Given the description of an element on the screen output the (x, y) to click on. 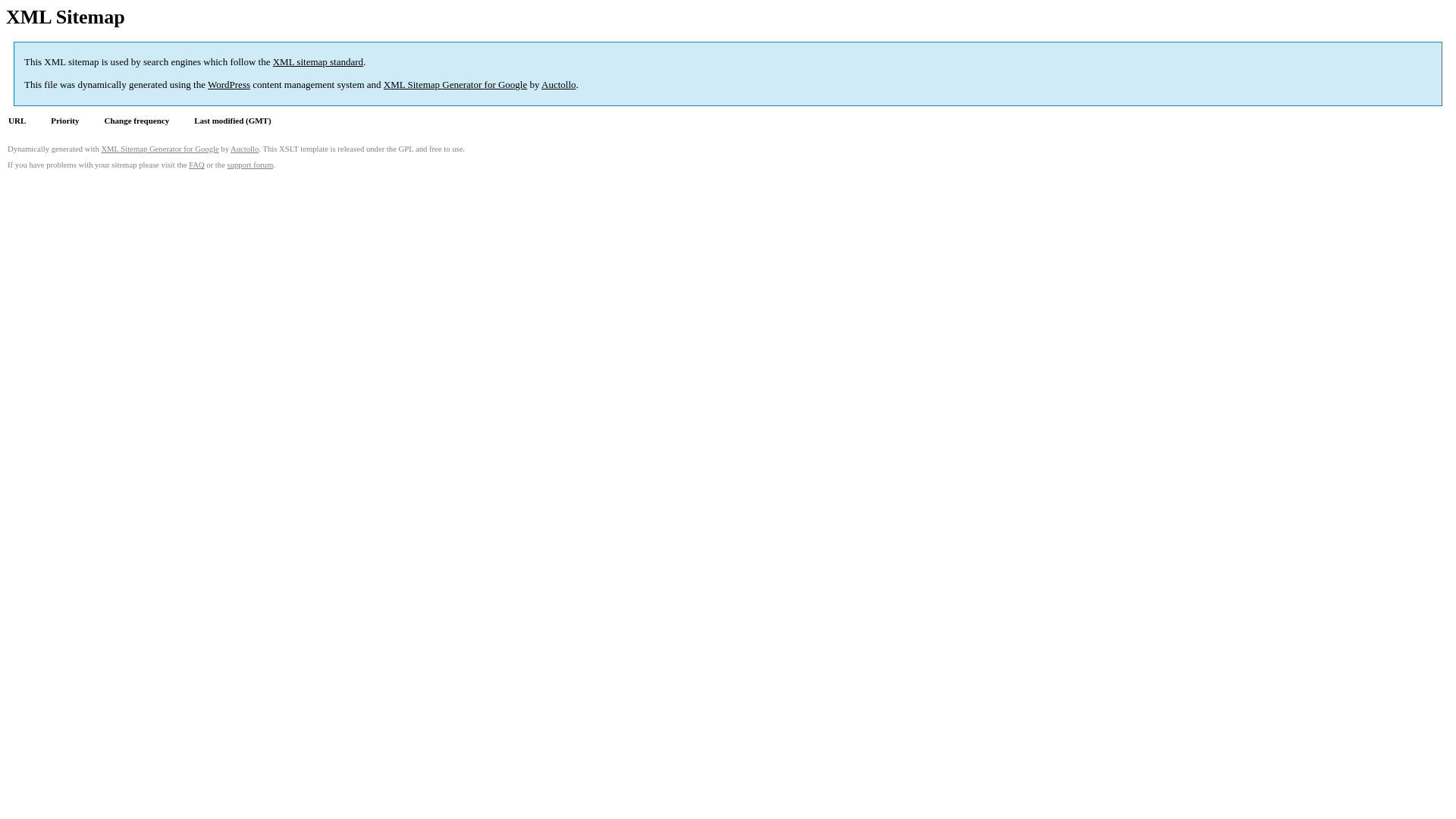
Auctollo Element type: text (558, 84)
FAQ Element type: text (196, 164)
XML Sitemap Generator for Google Element type: text (159, 148)
support forum Element type: text (250, 164)
WordPress Element type: text (228, 84)
XML Sitemap Generator for Google Element type: text (455, 84)
XML sitemap standard Element type: text (318, 61)
Auctollo Element type: text (244, 148)
